Given the description of an element on the screen output the (x, y) to click on. 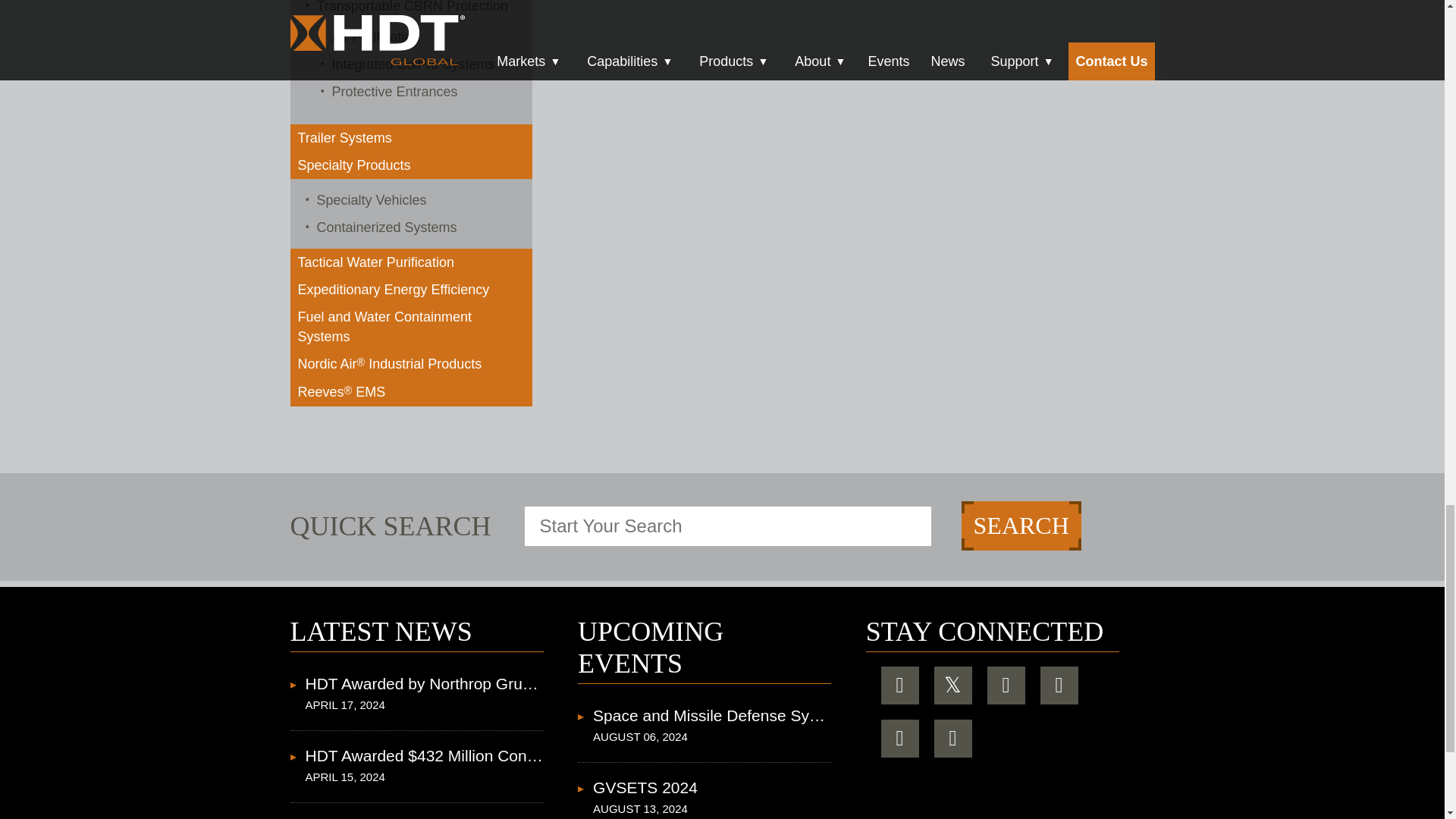
Search (1020, 525)
Search (1020, 525)
